Given the description of an element on the screen output the (x, y) to click on. 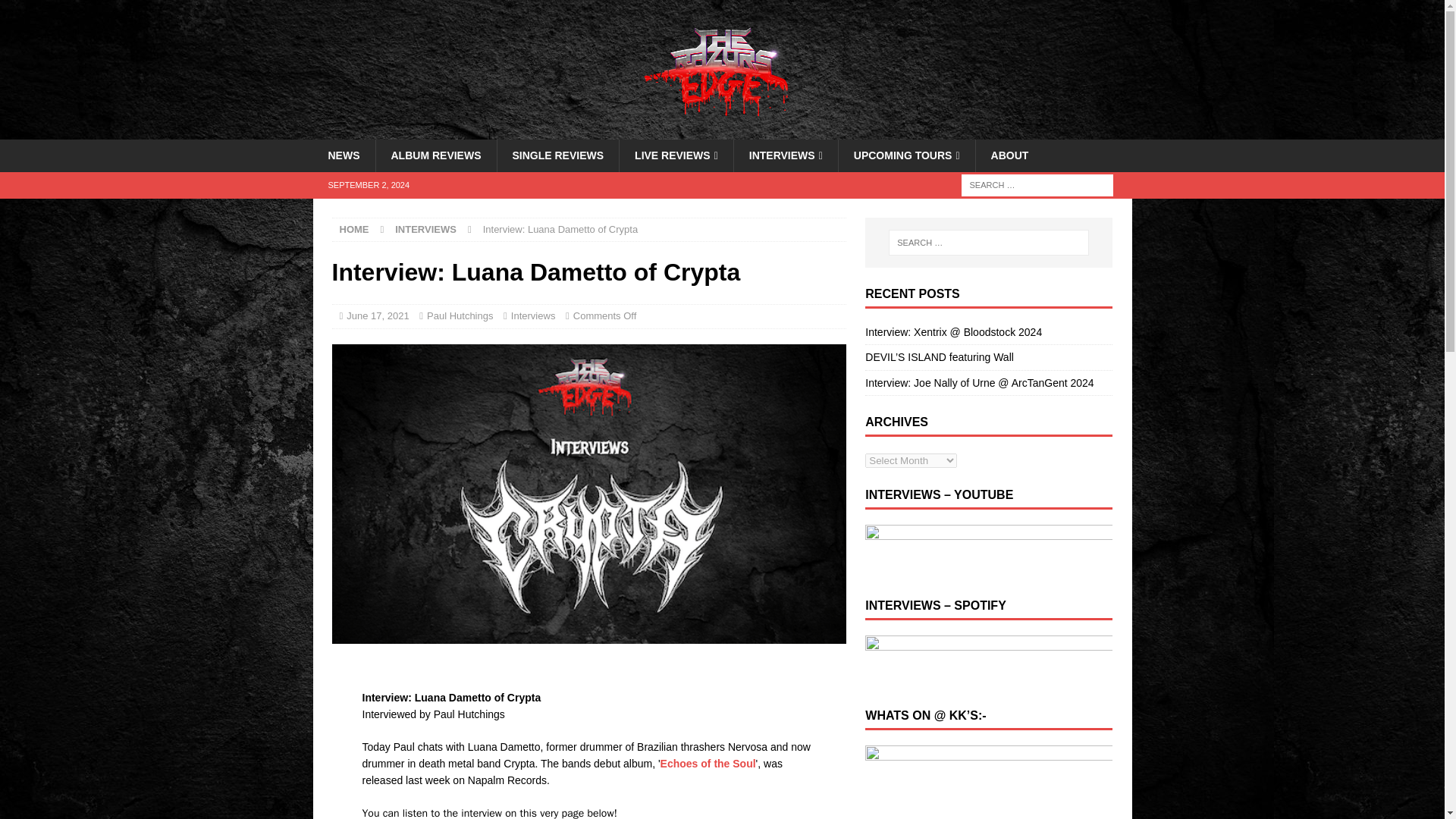
Echoes of the Soul (708, 763)
UPCOMING TOURS (906, 155)
Search (56, 11)
HOME (354, 229)
NEWS (343, 155)
SINGLE REVIEWS (557, 155)
ALBUM REVIEWS (435, 155)
INTERVIEWS (785, 155)
INTERVIEWS (425, 229)
